Given the description of an element on the screen output the (x, y) to click on. 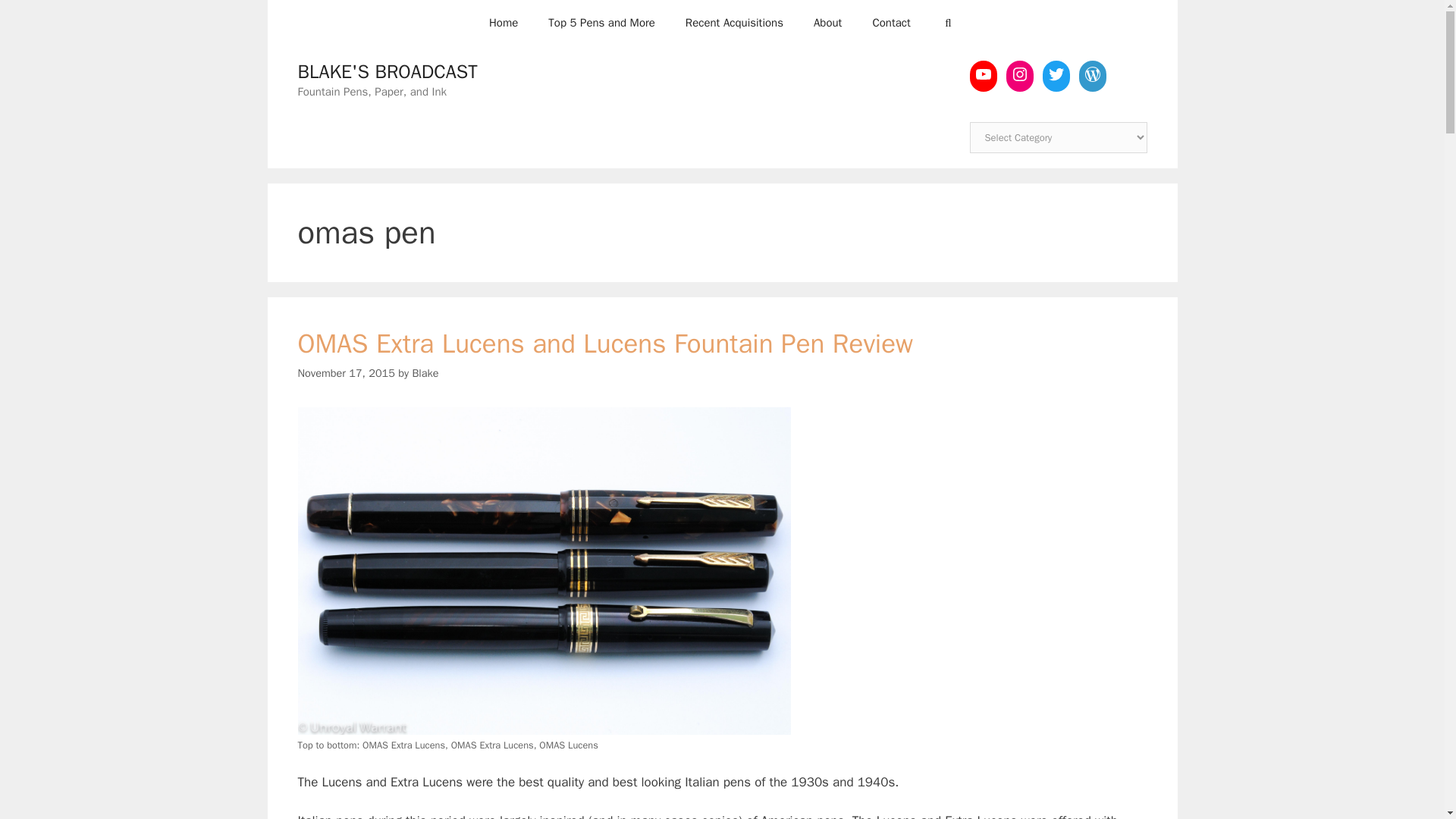
Blake (425, 373)
OMAS Extra Lucens and Lucens Fountain Pen Review (604, 343)
About (827, 22)
View all posts by Blake (425, 373)
Recent Acquisitions (733, 22)
WordPress (1091, 73)
Top 5 Pens and More (600, 22)
Home (503, 22)
Instagram (1019, 73)
YouTube (982, 73)
BLAKE'S BROADCAST (387, 71)
Twitter (1055, 73)
Contact (890, 22)
